Given the description of an element on the screen output the (x, y) to click on. 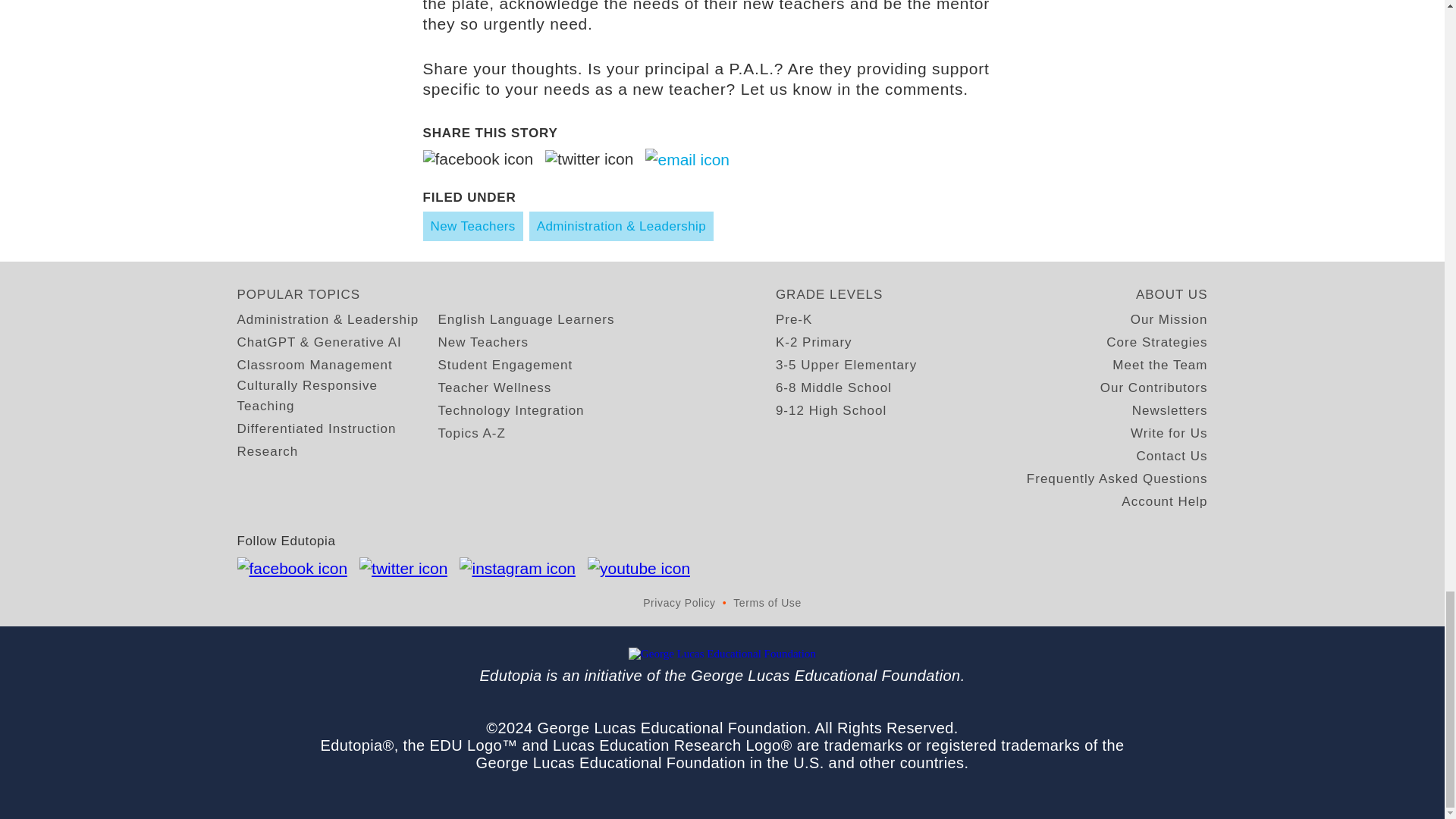
Teacher Wellness (494, 387)
Culturally Responsive Teaching (336, 395)
Differentiated Instruction (315, 428)
English Language Learners (526, 319)
Pre-K (794, 319)
New Teachers (483, 342)
Research (266, 451)
Technology Integration (511, 410)
Classroom Management (313, 364)
Student Engagement (505, 364)
